Given the description of an element on the screen output the (x, y) to click on. 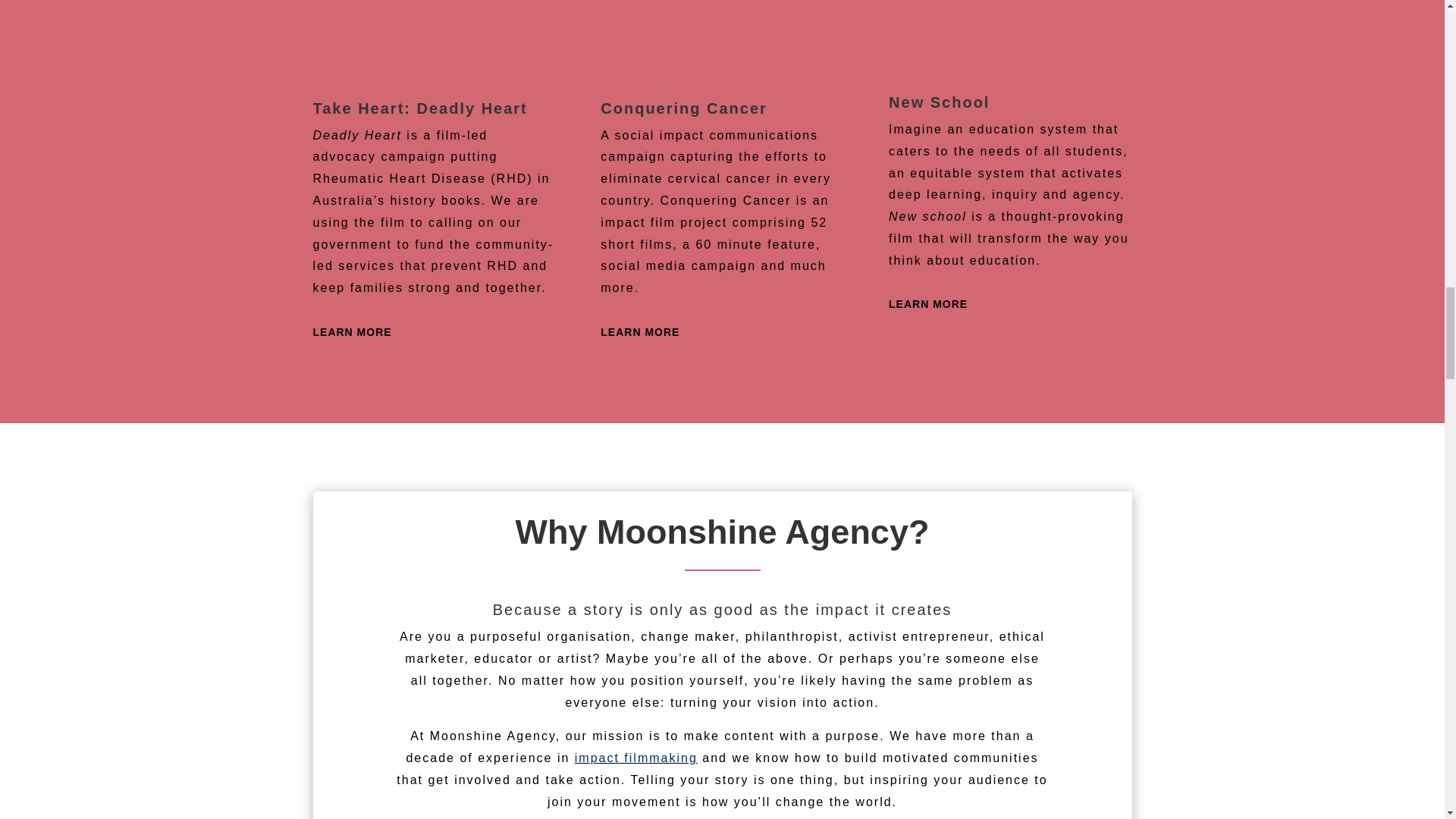
LEARN MORE (639, 332)
LEARN MORE (928, 304)
Moonshine-Agency- (1009, 35)
LEARN MORE (352, 332)
